Given the description of an element on the screen output the (x, y) to click on. 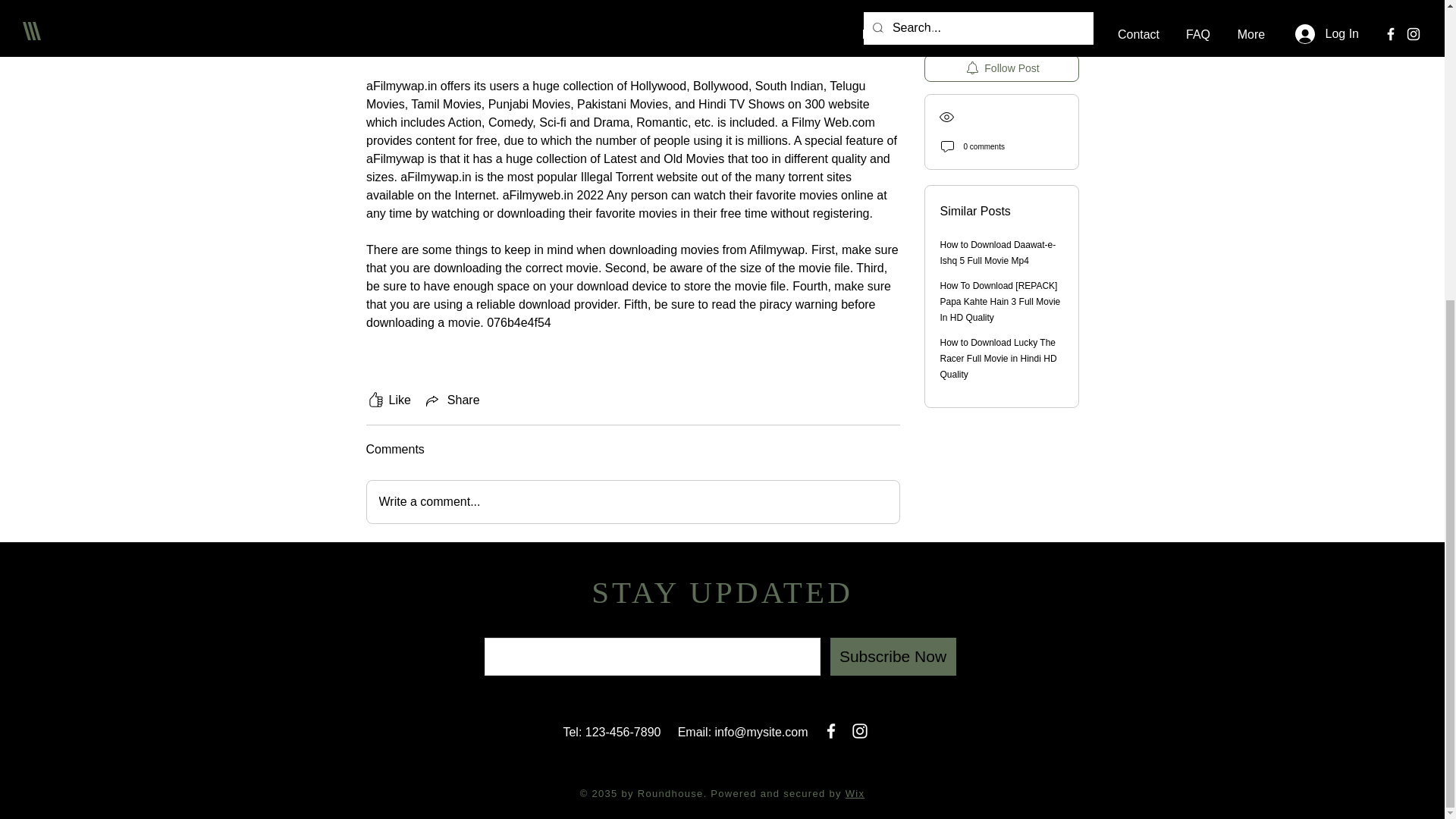
Wix (854, 793)
Like (387, 400)
Subscribe Now (892, 656)
Share (451, 400)
Write a comment... (632, 501)
